Given the description of an element on the screen output the (x, y) to click on. 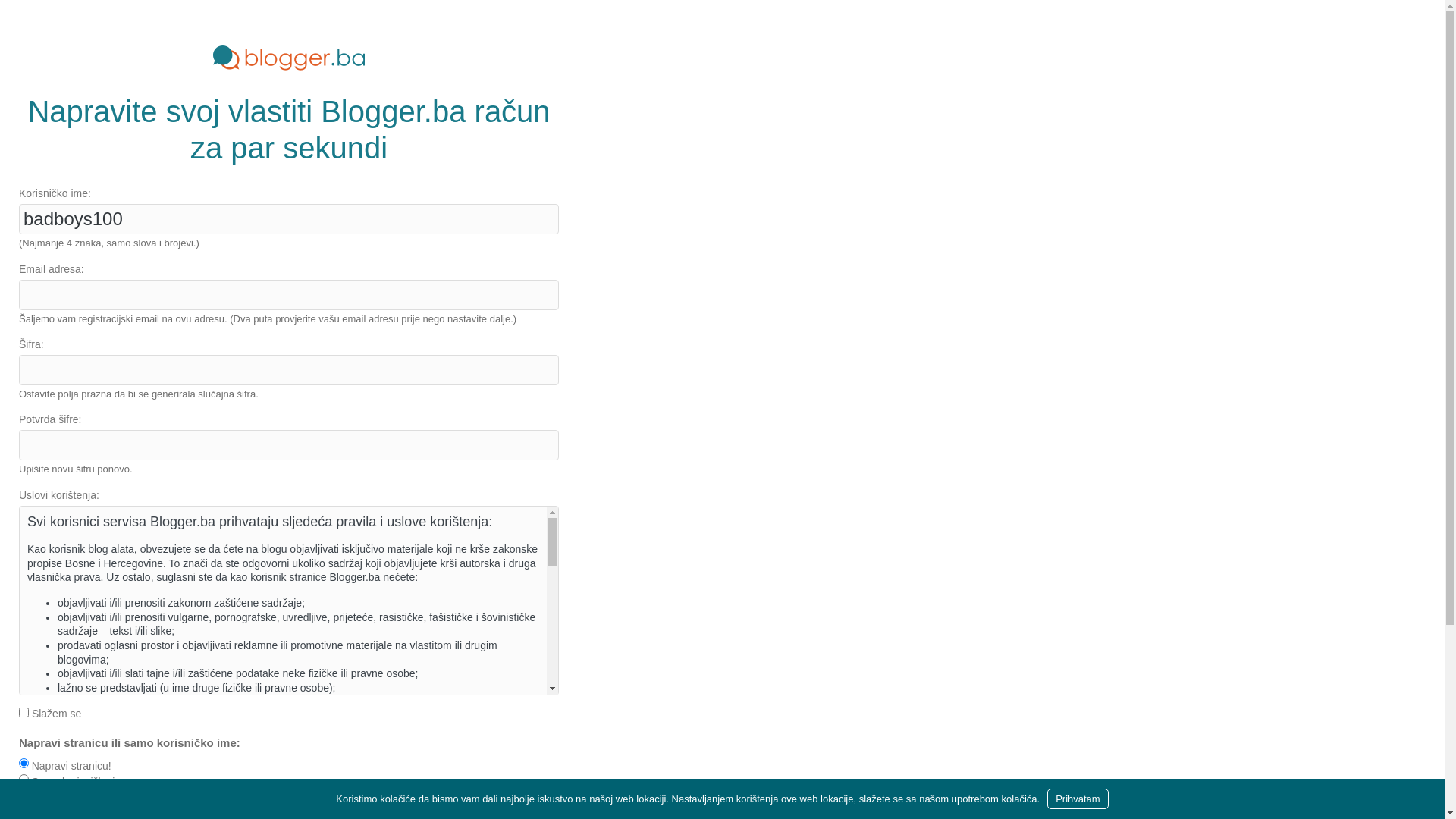
Prihvatam Element type: text (1077, 798)
